Given the description of an element on the screen output the (x, y) to click on. 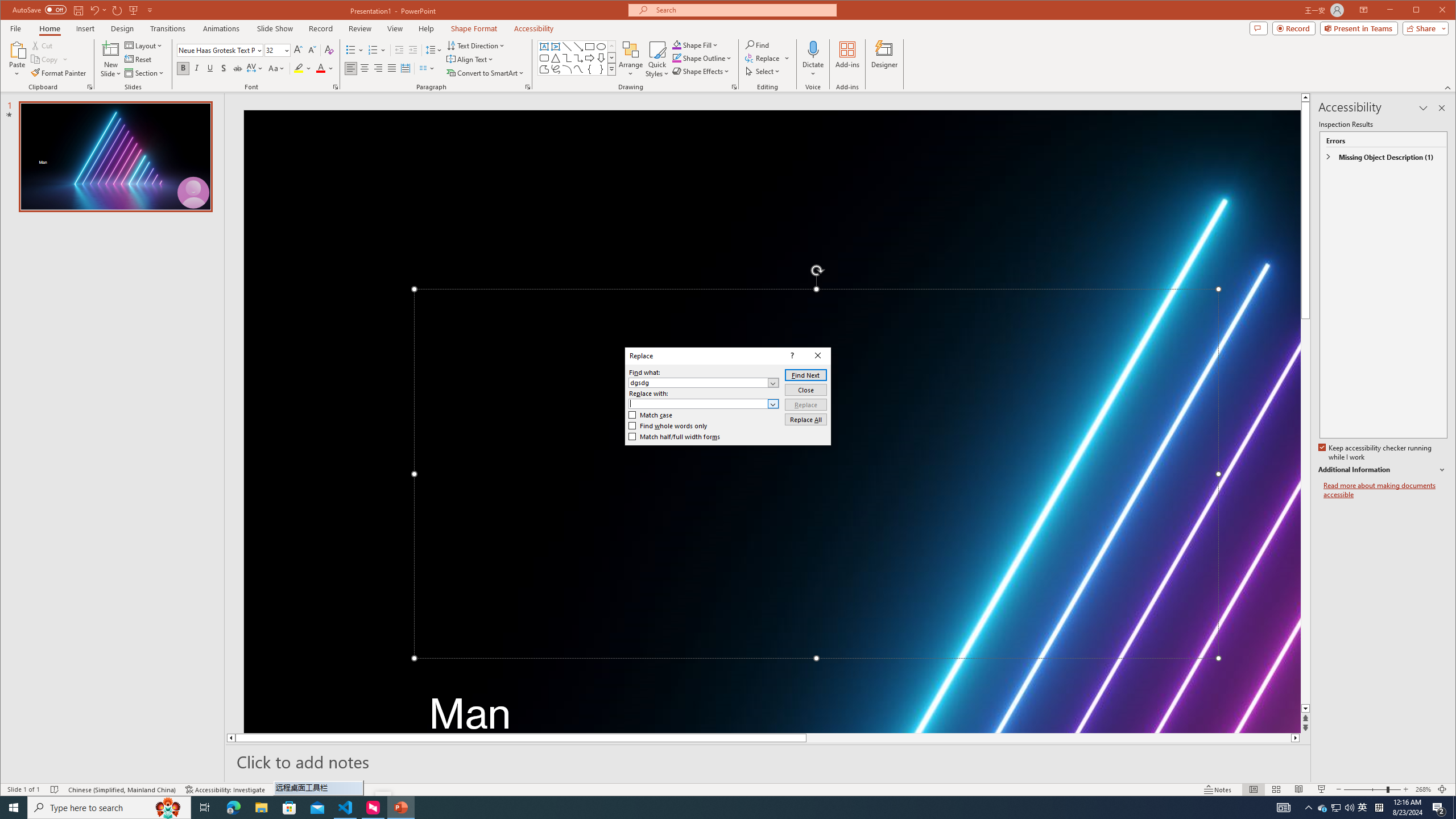
Match case (650, 414)
Find what (697, 382)
